Given the description of an element on the screen output the (x, y) to click on. 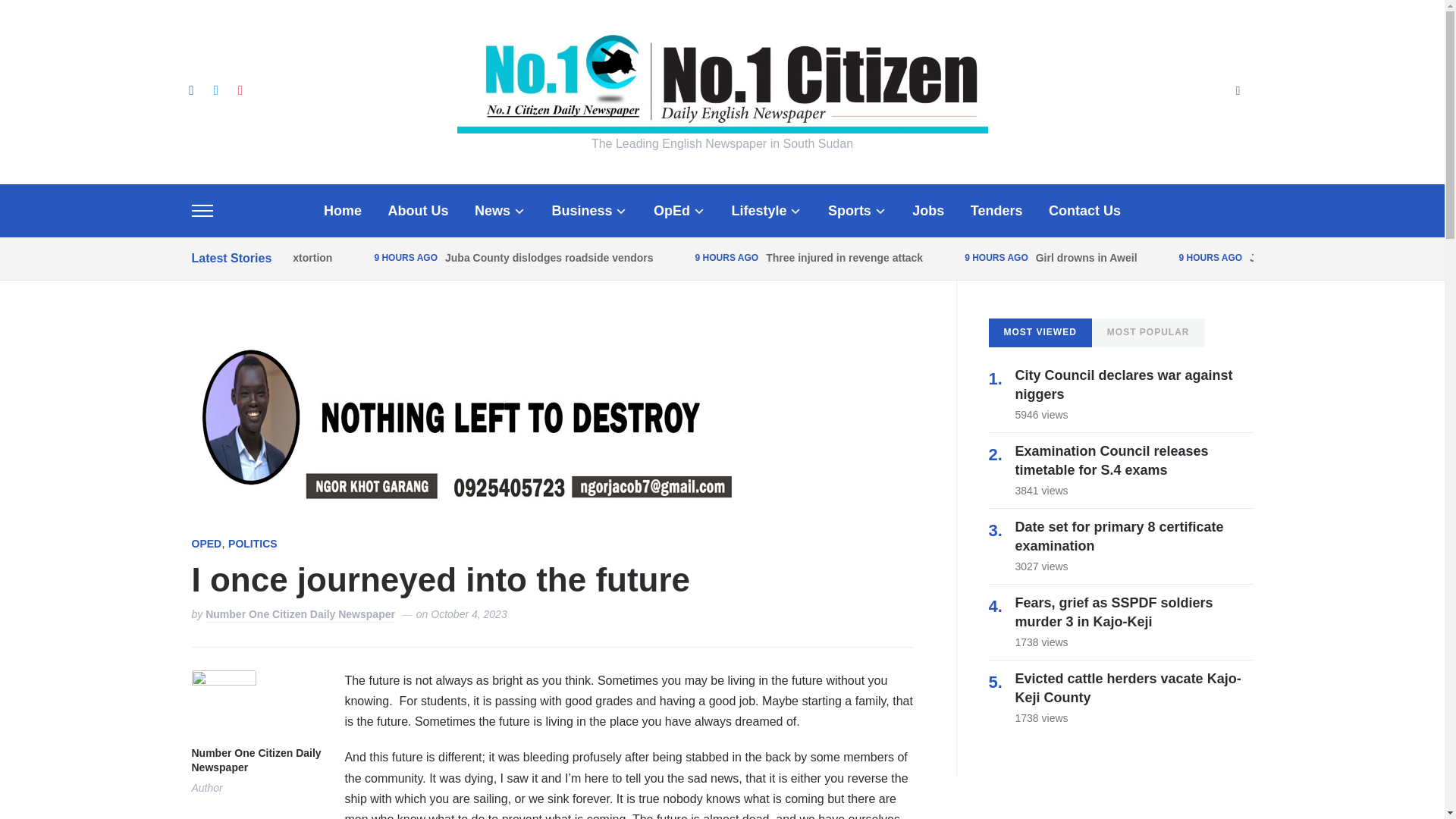
instagram (239, 88)
Three injured in revenge attack (844, 257)
Posts by Number One Citizen Daily Newspaper (299, 615)
Posts by Number One Citizen Daily Newspaper (255, 761)
facebook (190, 88)
Search (1237, 91)
Juba County dislodges roadside vendors (549, 257)
MP slams Boda-Boda Association over extortion (210, 257)
Girl drowns in Aweil (1086, 257)
Friend me on Facebook (190, 88)
Follow Me (216, 88)
twitter (216, 88)
